Given the description of an element on the screen output the (x, y) to click on. 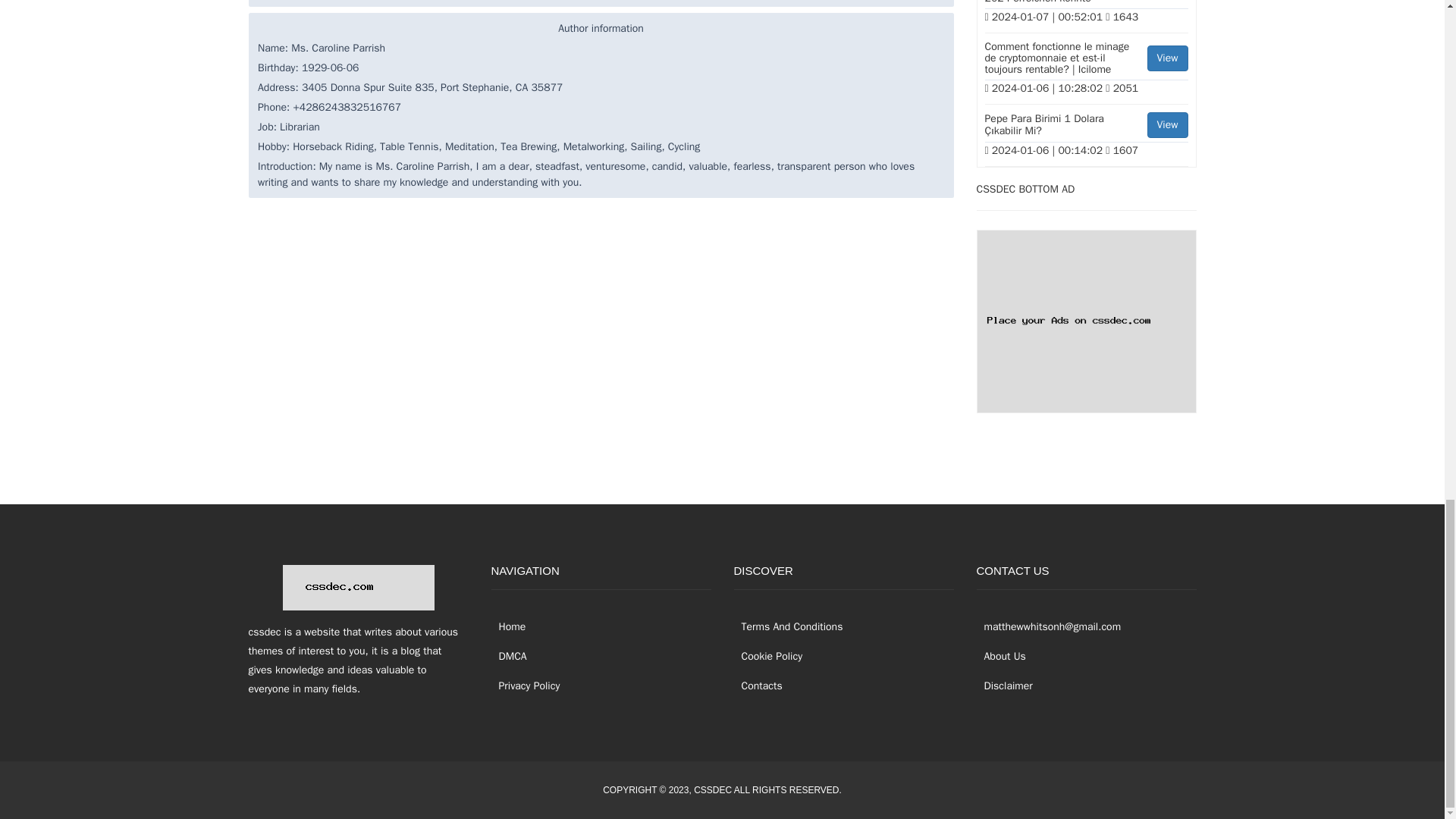
View (1167, 58)
Privacy Policy (526, 685)
DMCA (509, 656)
Disclaimer (1004, 685)
Contacts (758, 685)
View (1167, 125)
About Us (1001, 656)
Terms And Conditions (788, 626)
CSSDEC (713, 789)
Cookie Policy (768, 656)
